Given the description of an element on the screen output the (x, y) to click on. 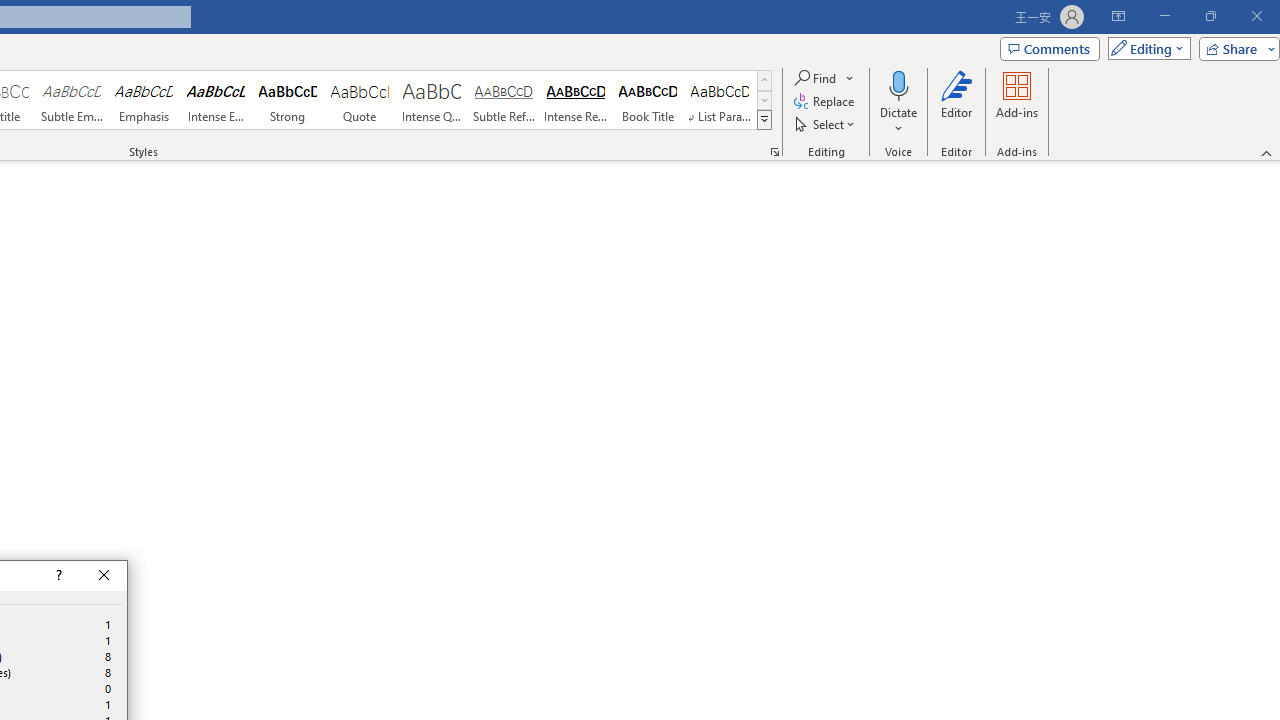
Subtle Emphasis (71, 100)
Intense Emphasis (216, 100)
Editing (1144, 47)
Context help (57, 575)
Strong (287, 100)
Subtle Reference (504, 100)
